Given the description of an element on the screen output the (x, y) to click on. 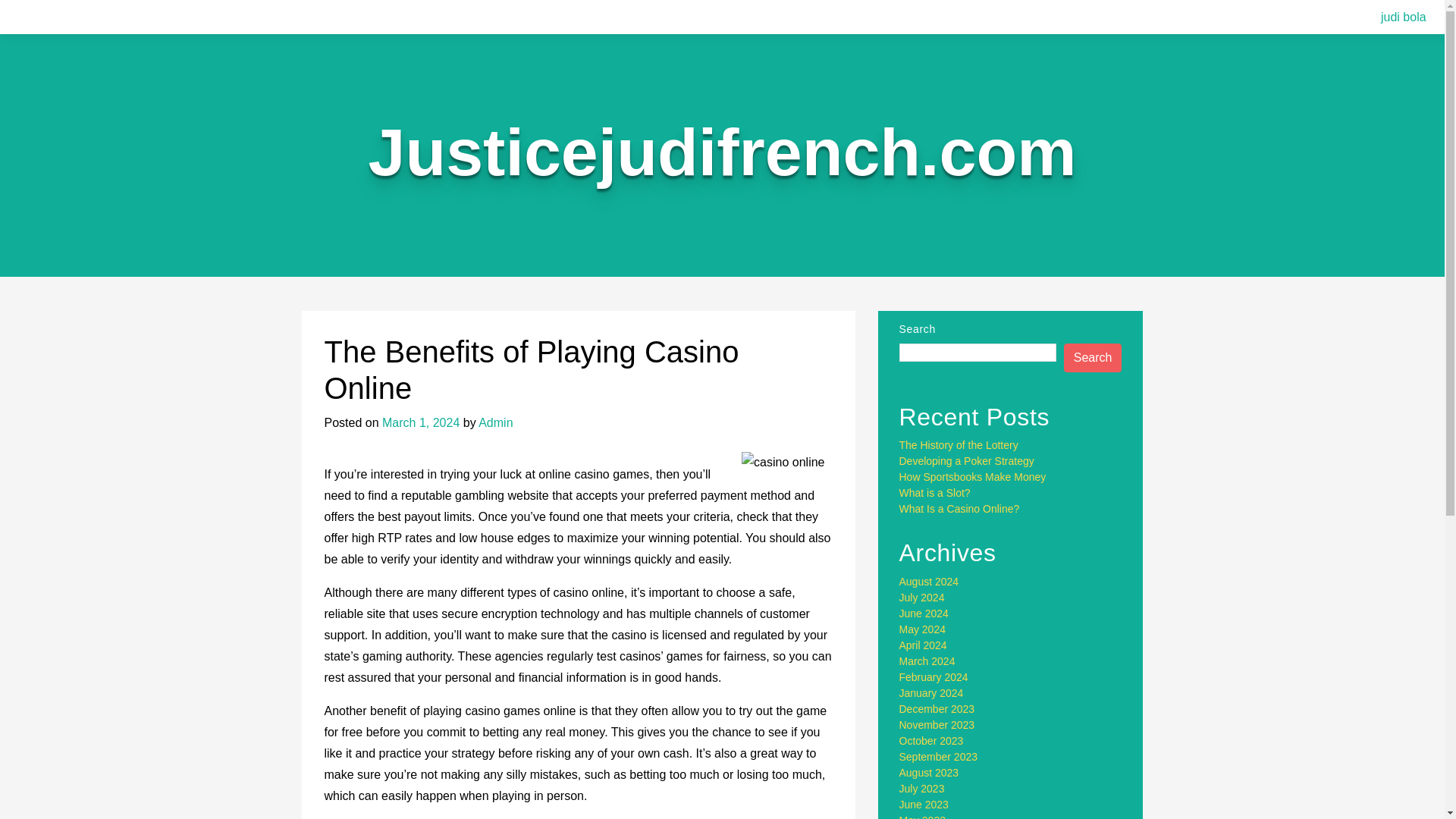
How Sportsbooks Make Money (972, 476)
The History of the Lottery (958, 444)
Admin (495, 422)
December 2023 (937, 708)
What is a Slot? (935, 492)
July 2023 (921, 788)
Search (1093, 357)
April 2024 (923, 645)
January 2024 (931, 693)
August 2024 (929, 581)
March 2024 (927, 661)
October 2023 (931, 740)
May 2023 (921, 816)
July 2024 (921, 597)
November 2023 (937, 725)
